Given the description of an element on the screen output the (x, y) to click on. 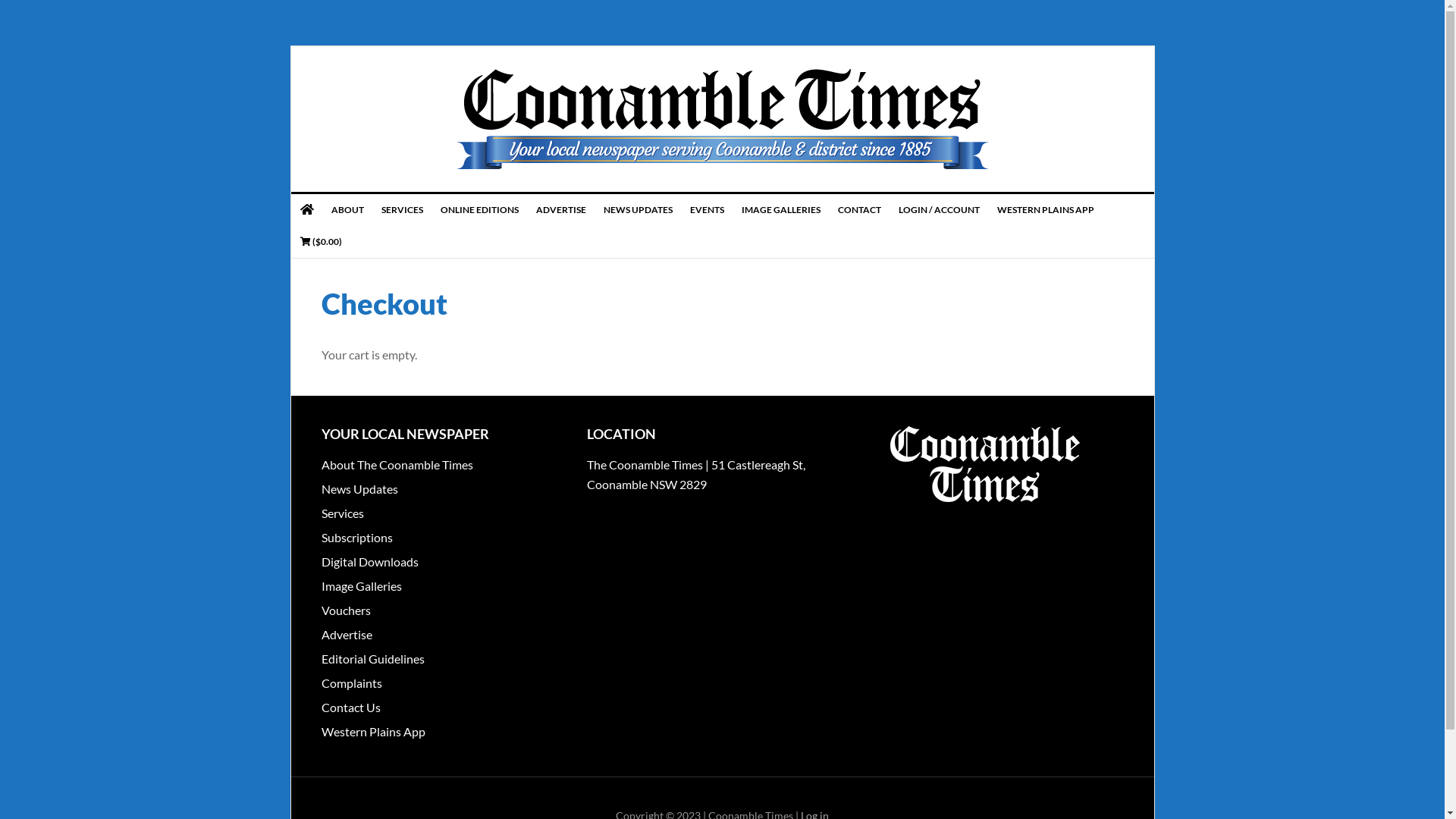
IMAGE GALLERIES Element type: text (781, 209)
NEWS UPDATES Element type: text (638, 209)
Skip to primary navigation Element type: text (0, 0)
Services Element type: text (342, 512)
THE COONAMBLE TIMES Element type: text (722, 119)
Western Plains App Element type: text (373, 731)
SERVICES Element type: text (401, 209)
ONLINE EDITIONS Element type: text (478, 209)
Editorial Guidelines Element type: text (372, 658)
LOGIN / ACCOUNT Element type: text (938, 209)
Digital Downloads Element type: text (369, 561)
Complaints Element type: text (351, 682)
WESTERN PLAINS APP Element type: text (1045, 209)
Advertise Element type: text (346, 634)
ABOUT Element type: text (347, 209)
Vouchers Element type: text (345, 609)
Contact Us Element type: text (350, 706)
News Updates Element type: text (359, 488)
ADVERTISE Element type: text (560, 209)
About The Coonamble Times Element type: text (397, 464)
CONTACT Element type: text (859, 209)
Subscriptions Element type: text (356, 537)
($0.00) Element type: text (321, 241)
Image Galleries Element type: text (361, 585)
EVENTS Element type: text (707, 209)
